Given the description of an element on the screen output the (x, y) to click on. 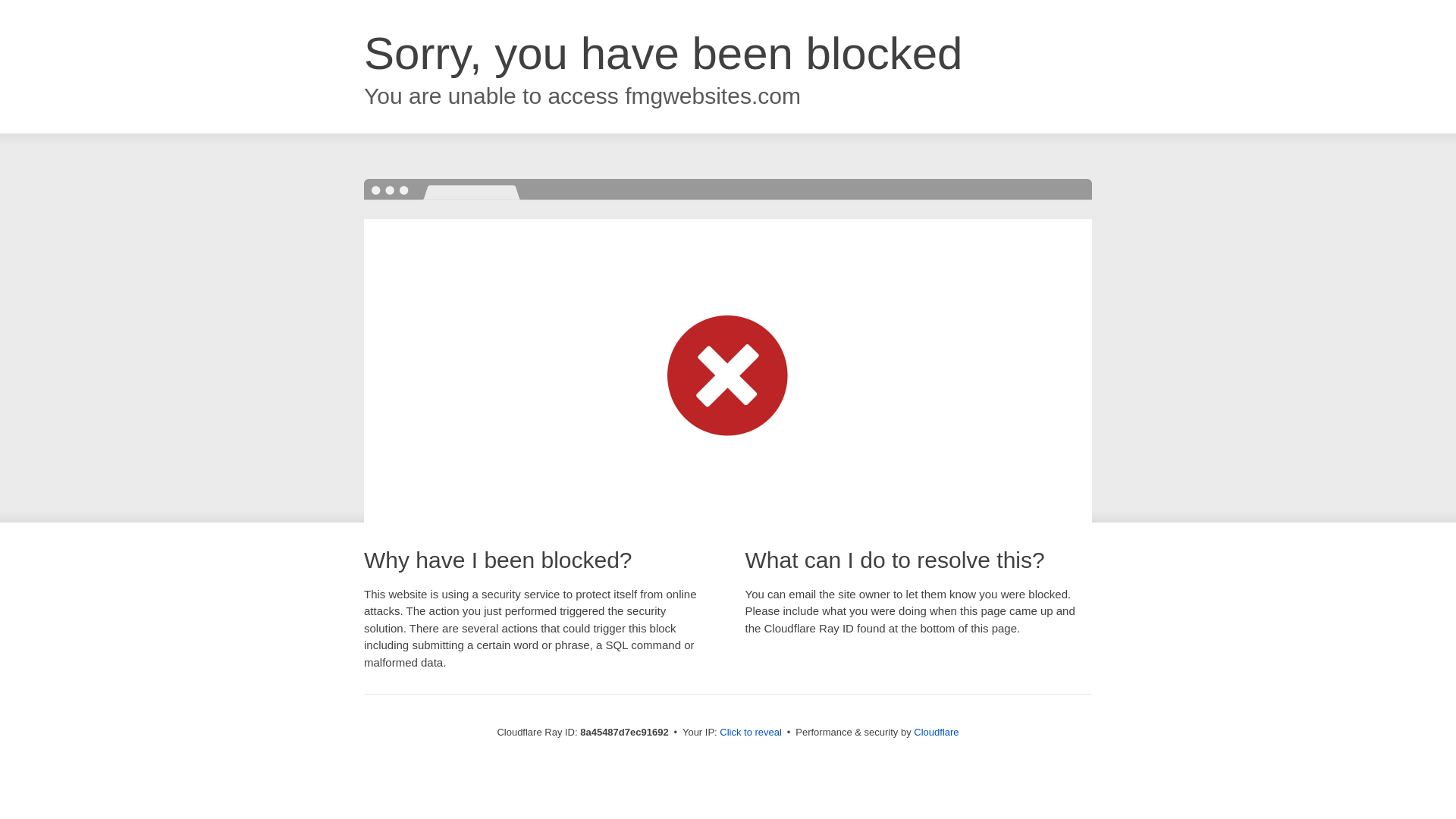
Cloudflare (936, 731)
Click to reveal (750, 732)
